Given the description of an element on the screen output the (x, y) to click on. 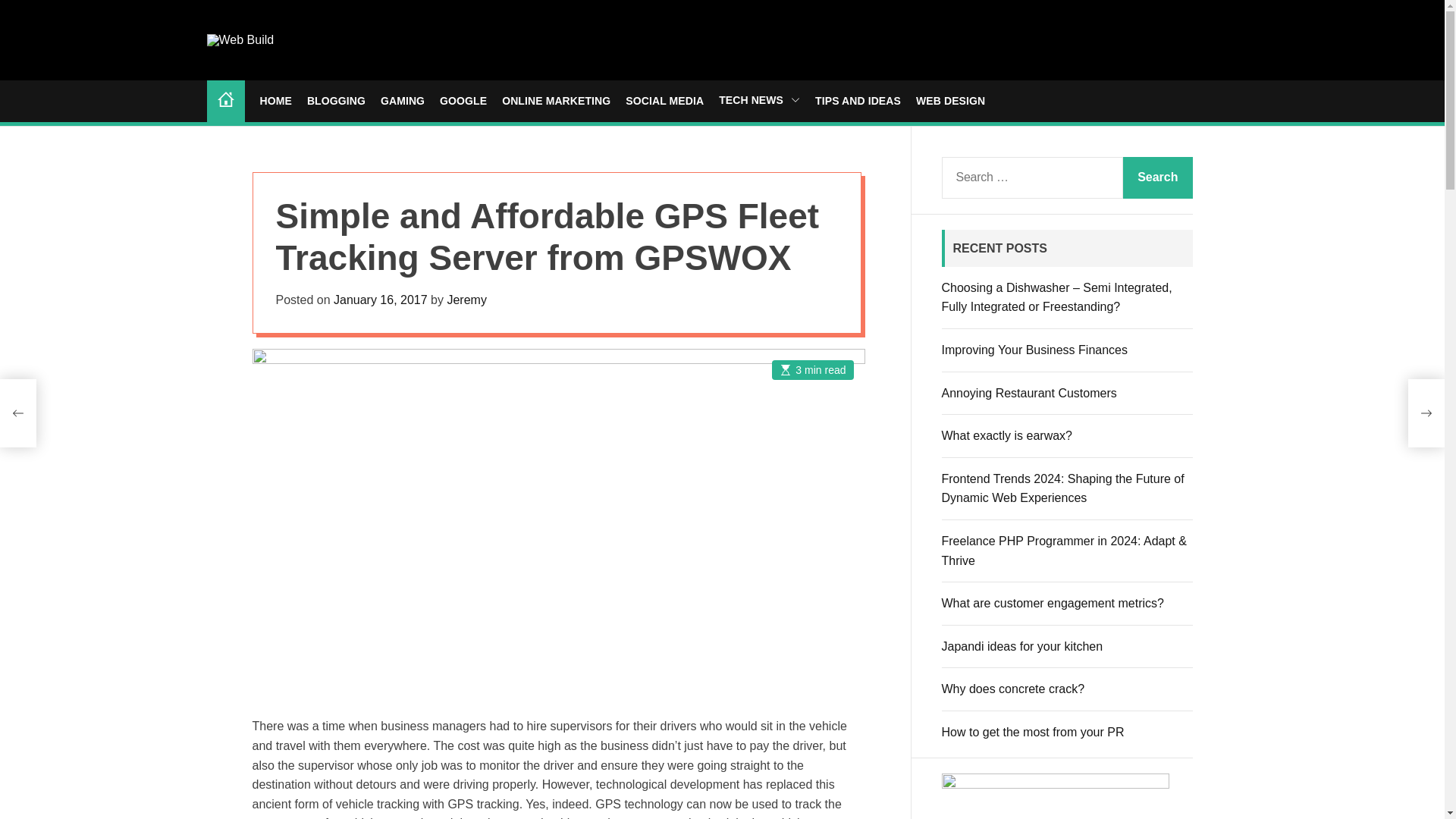
Click Here (1055, 796)
TECH NEWS (759, 100)
Jeremy (466, 299)
GOOGLE (462, 100)
WEB DESIGN (950, 100)
GAMING (402, 100)
Search (1157, 178)
Search (1157, 178)
BLOGGING (336, 100)
HOME (275, 100)
